Given the description of an element on the screen output the (x, y) to click on. 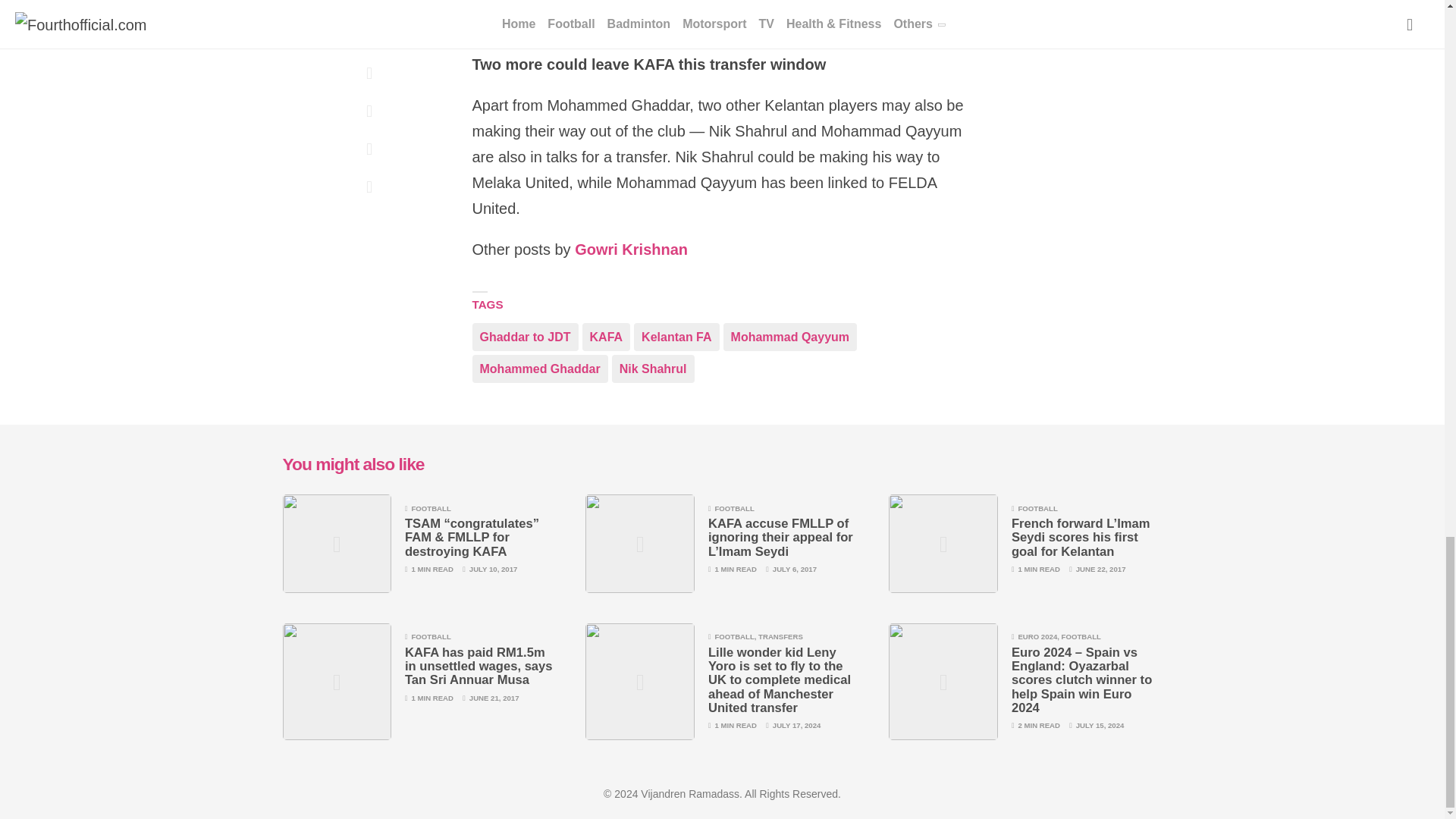
Mohammad Qayyum (790, 336)
KAFA (606, 336)
Ghaddar to JDT (524, 336)
Mohammed Ghaddar (539, 368)
Posts by Gowri Krishnan (631, 250)
Gowri Krishnan (631, 250)
Kelantan FA (676, 336)
Nik Shahrul (652, 368)
